Given the description of an element on the screen output the (x, y) to click on. 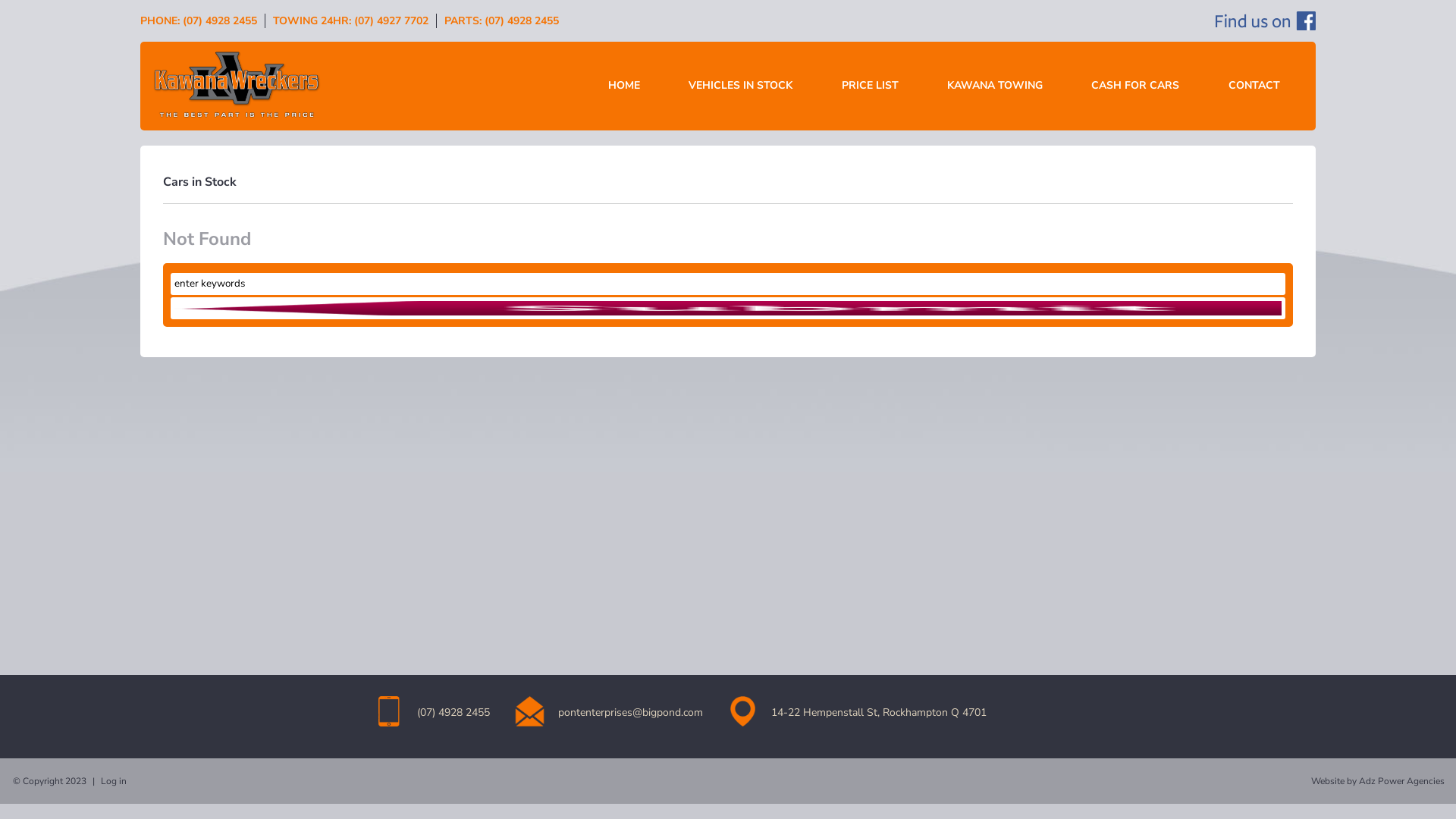
KAWANA TOWING Element type: text (994, 85)
VEHICLES IN STOCK Element type: text (740, 85)
(07) 4928 2455 Element type: text (219, 20)
pontenterprises@bigpond.com Element type: text (630, 712)
HOME Element type: text (623, 85)
Cars in Stock Element type: text (199, 181)
PRICE LIST Element type: text (869, 85)
CASH FOR CARS Element type: text (1134, 85)
(07) 4927 7702 Element type: text (391, 20)
Log in Element type: text (113, 781)
(07) 4928 2455 Element type: text (521, 20)
CONTACT Element type: text (1254, 85)
Website by Adz Power Agencies Element type: text (1377, 781)
